Given the description of an element on the screen output the (x, y) to click on. 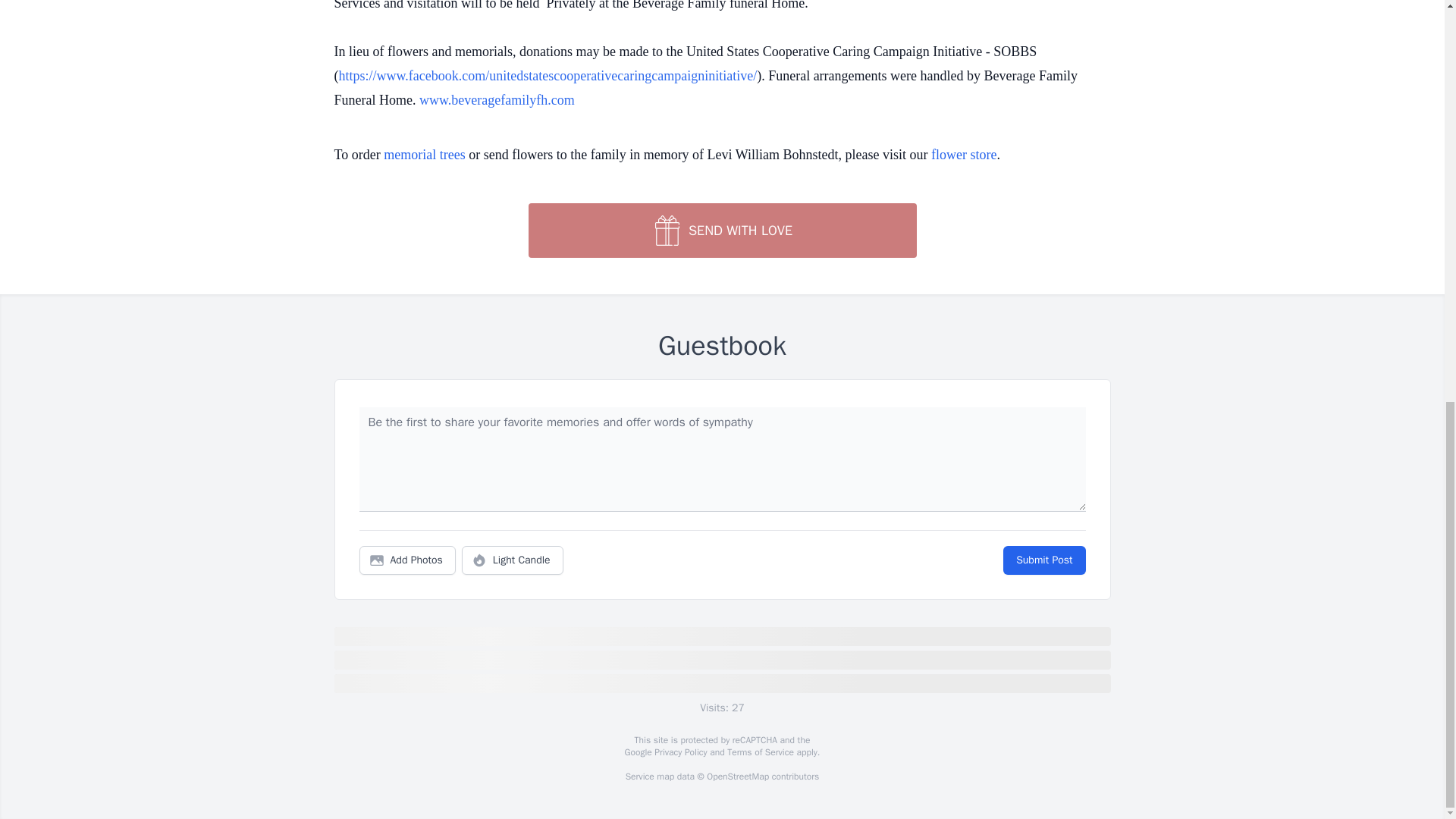
flower store (963, 154)
Light Candle (512, 560)
memorial trees (424, 154)
www.beveragefamilyfh.com (497, 99)
Privacy Policy (679, 752)
SEND WITH LOVE (721, 230)
Submit Post (1043, 560)
Terms of Service (759, 752)
OpenStreetMap (737, 776)
Add Photos (407, 560)
